Given the description of an element on the screen output the (x, y) to click on. 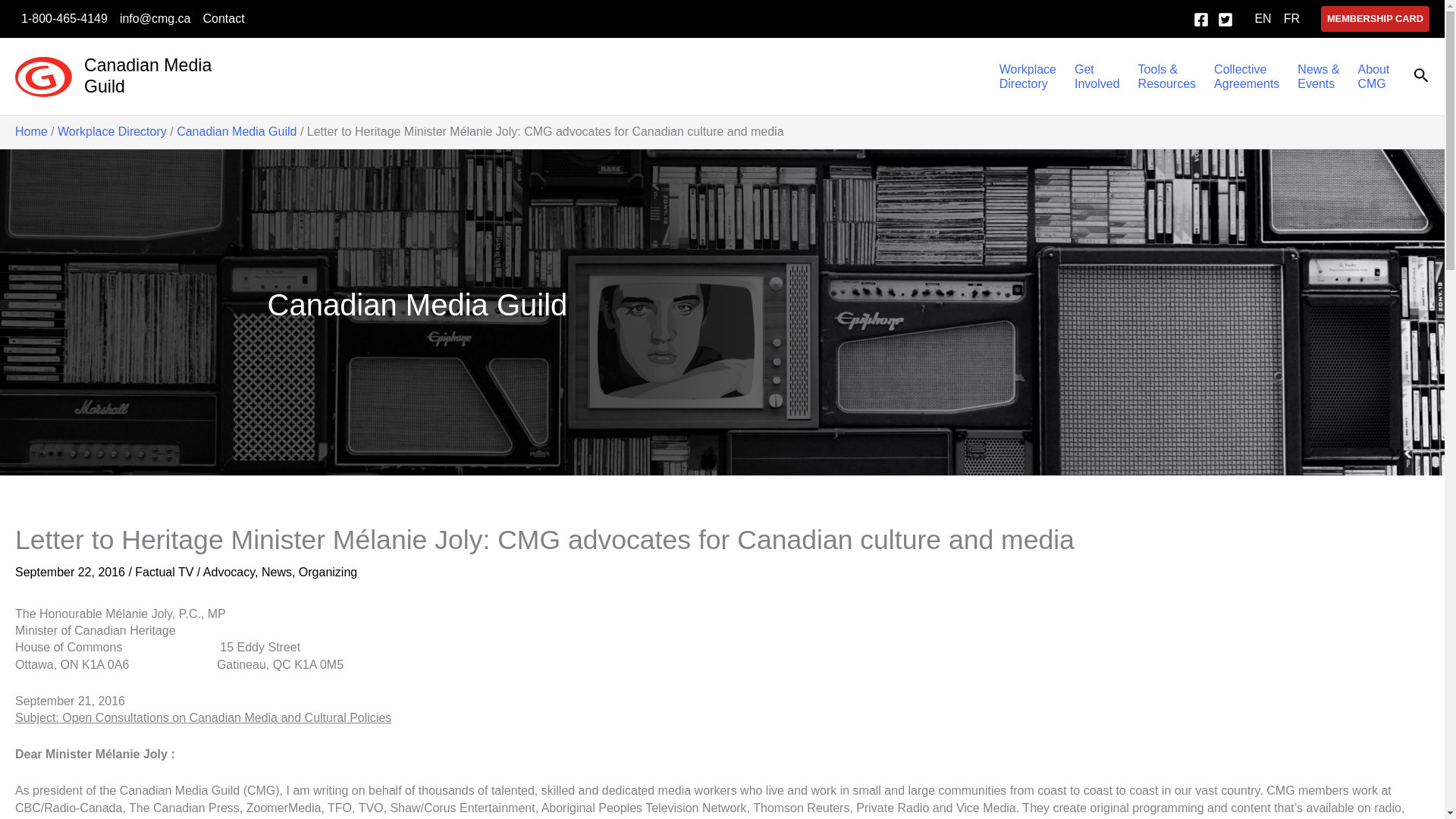
MEMBERSHIP CARD (1027, 76)
1-800-465-4149 (1374, 18)
Contact (63, 18)
Canadian Media Guild (223, 18)
